Given the description of an element on the screen output the (x, y) to click on. 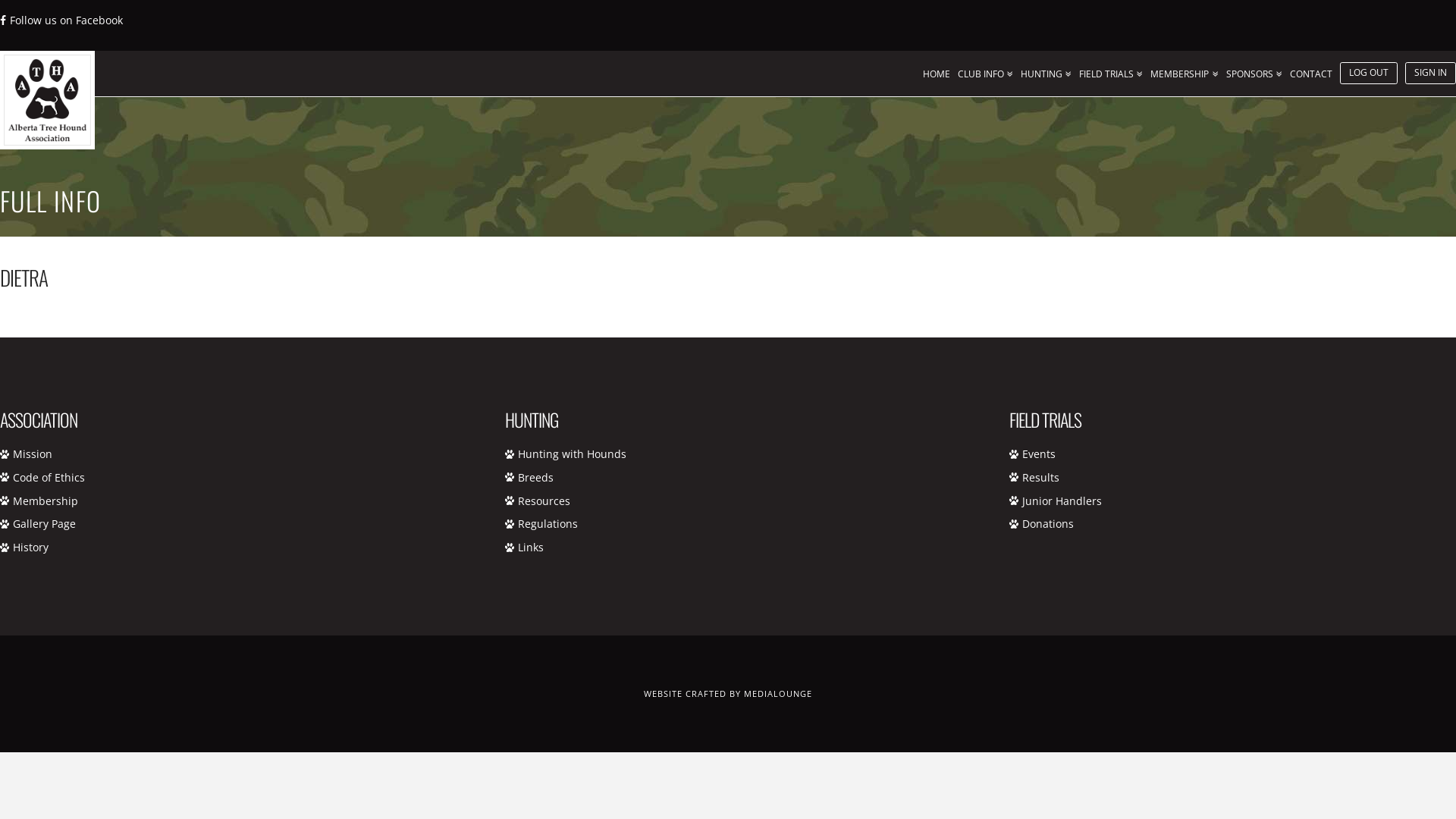
FIELD TRIALS Element type: text (1114, 69)
MEDIALOUNGE Element type: text (777, 693)
Events Element type: text (1038, 453)
CONTACT Element type: text (1314, 69)
Breeds Element type: text (535, 477)
Hunting with Hounds Element type: text (571, 453)
Gallery Page Element type: text (43, 523)
Regulations Element type: text (547, 523)
HOME Element type: text (939, 69)
SPONSORS Element type: text (1257, 69)
CLUB INFO Element type: text (988, 69)
Mission Element type: text (32, 453)
HUNTING Element type: text (1049, 69)
Resources Element type: text (543, 500)
Donations Element type: text (1047, 523)
Code of Ethics Element type: text (48, 477)
History Element type: text (30, 547)
Links Element type: text (530, 547)
Results Element type: text (1040, 477)
Junior Handlers Element type: text (1061, 500)
MEMBERSHIP Element type: text (1187, 69)
Membership Element type: text (45, 500)
LOG OUT Element type: text (1372, 69)
Follow us on Facebook Element type: text (61, 19)
